Given the description of an element on the screen output the (x, y) to click on. 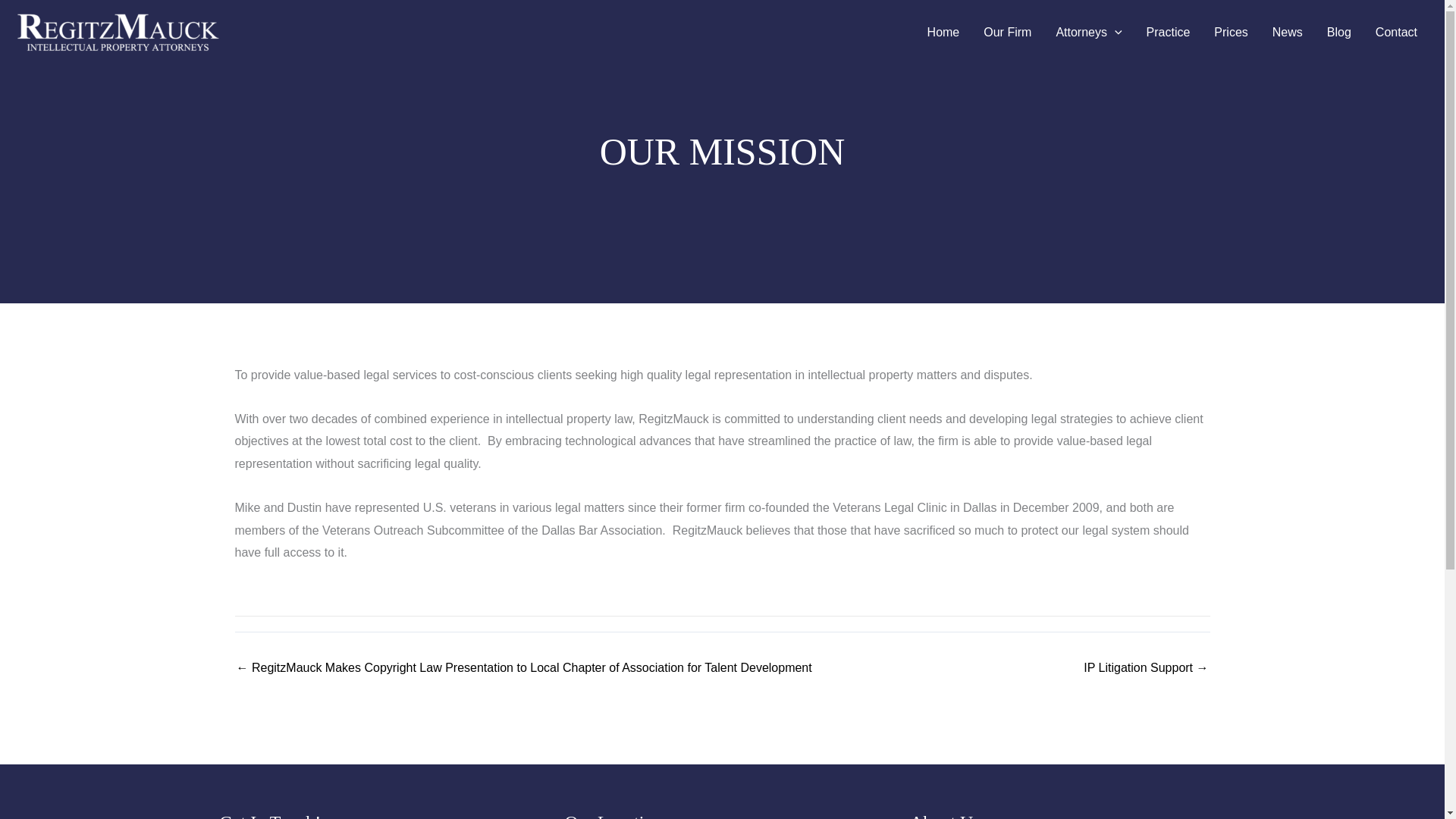
Contact (1395, 32)
Home (943, 32)
Our Firm (1007, 32)
Practice (1168, 32)
Prices (1230, 32)
News (1287, 32)
Attorneys (1088, 32)
